Given the description of an element on the screen output the (x, y) to click on. 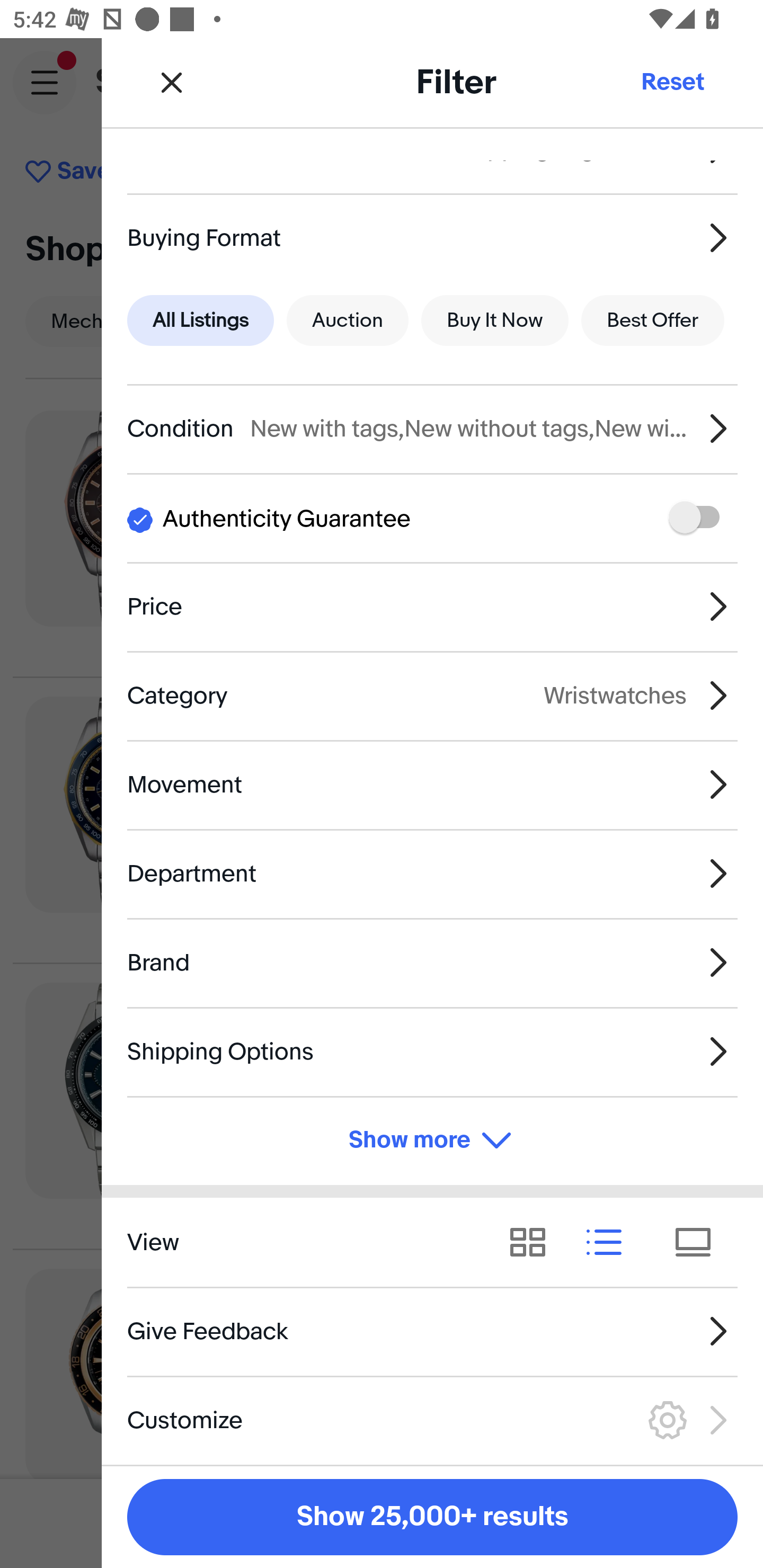
Close Filter (171, 81)
Reset (672, 81)
Buying Format (432, 237)
All Listings (200, 320)
Auction (347, 320)
Buy It Now (494, 320)
Best Offer (652, 320)
I  Authenticity Guarantee (432, 517)
Price (432, 605)
Category Wristwatches (432, 695)
Movement (432, 784)
Department (432, 873)
Brand (432, 961)
Shipping Options (432, 1051)
Show more (432, 1140)
View results as grid (533, 1242)
View results as list (610, 1242)
View results as tiles (699, 1242)
Customize (432, 1419)
Show 25,000+ results (432, 1516)
